Given the description of an element on the screen output the (x, y) to click on. 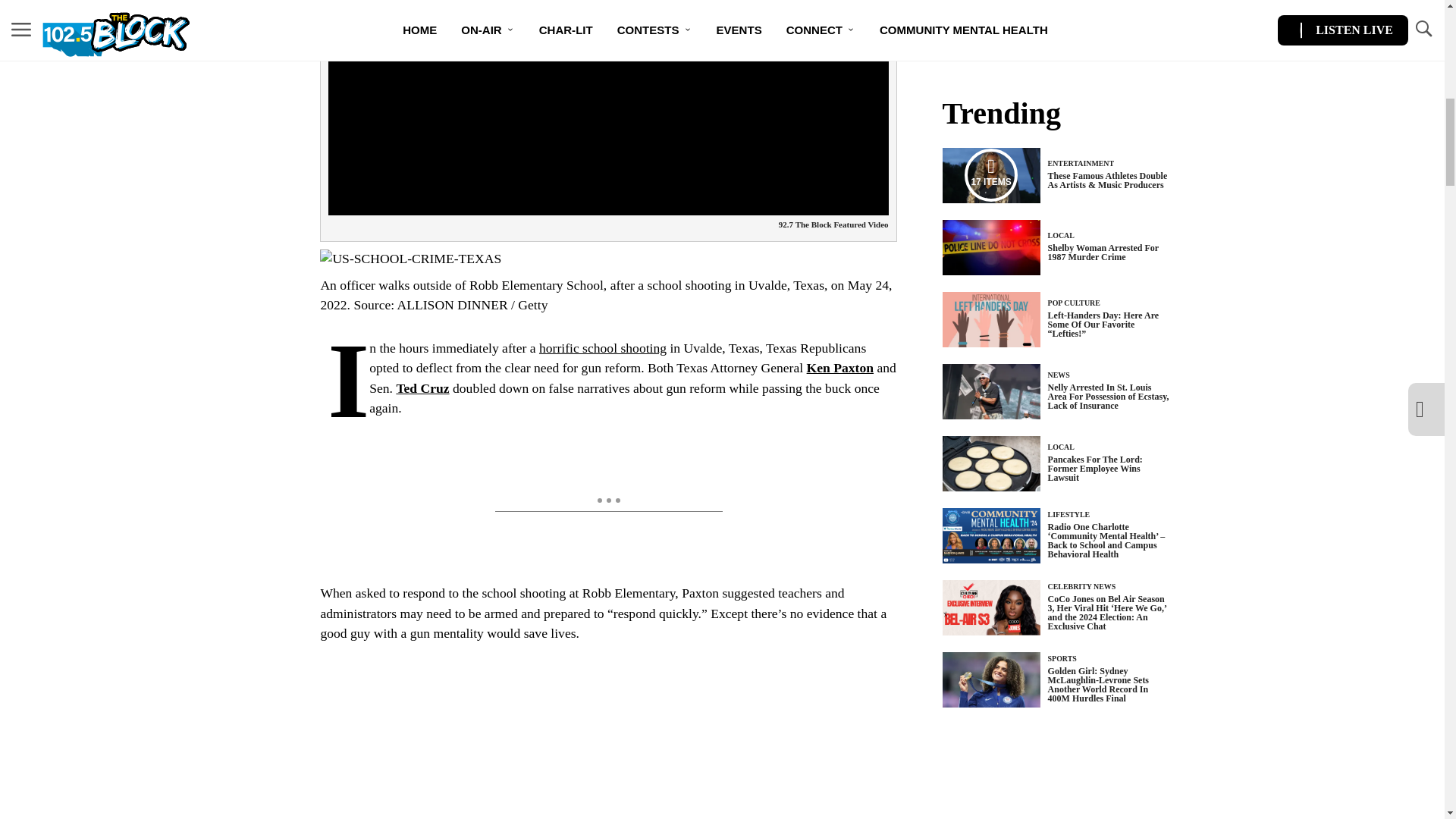
horrific school shooting (602, 347)
Ted Cruz (422, 387)
Media Playlist (990, 174)
Ken Paxton (839, 367)
